Given the description of an element on the screen output the (x, y) to click on. 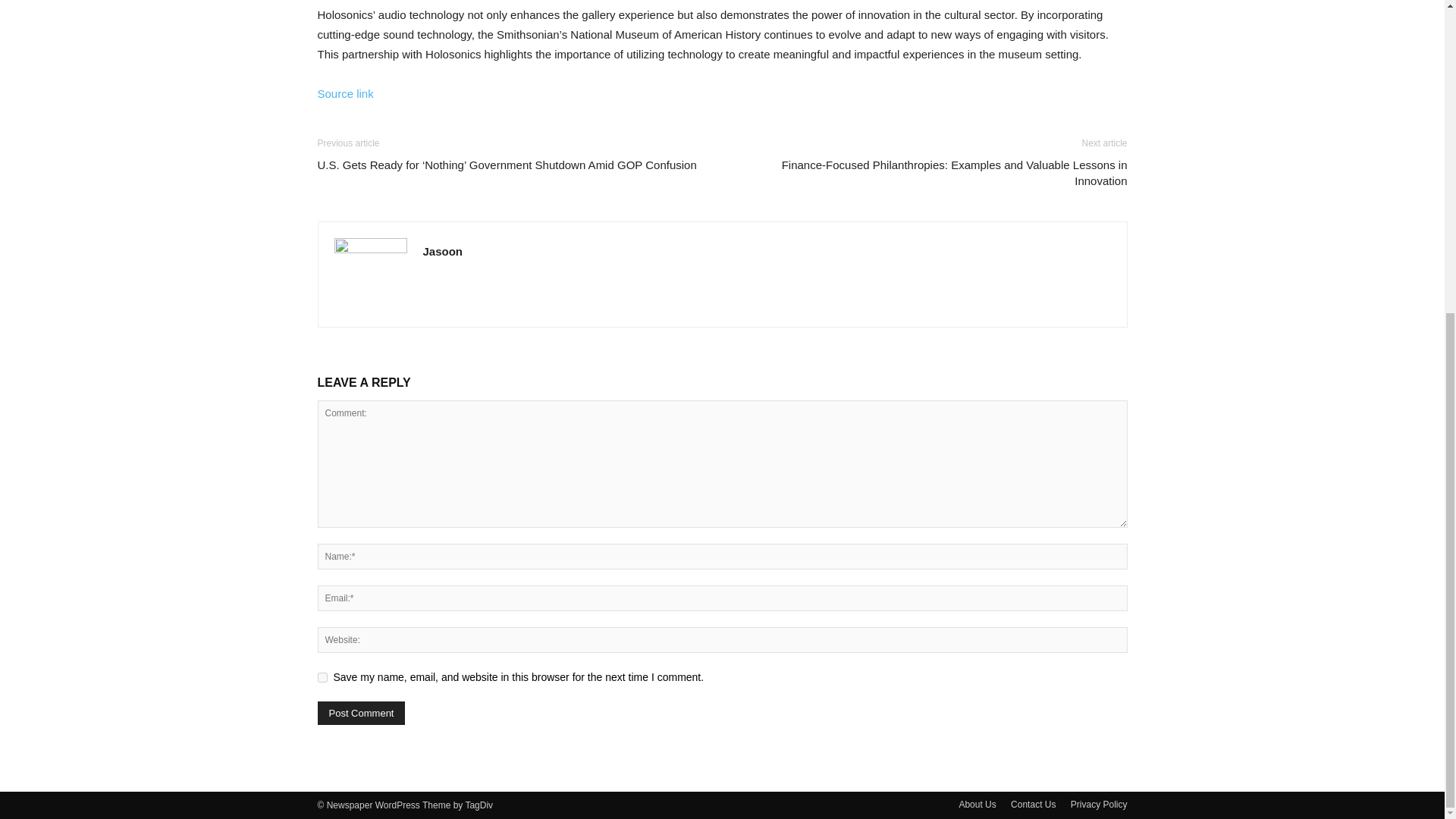
Post Comment (360, 712)
yes (321, 677)
Source link (344, 92)
Jasoon (443, 250)
About Us (976, 804)
Post Comment (360, 712)
Privacy Policy (1098, 804)
Contact Us (1032, 804)
